Given the description of an element on the screen output the (x, y) to click on. 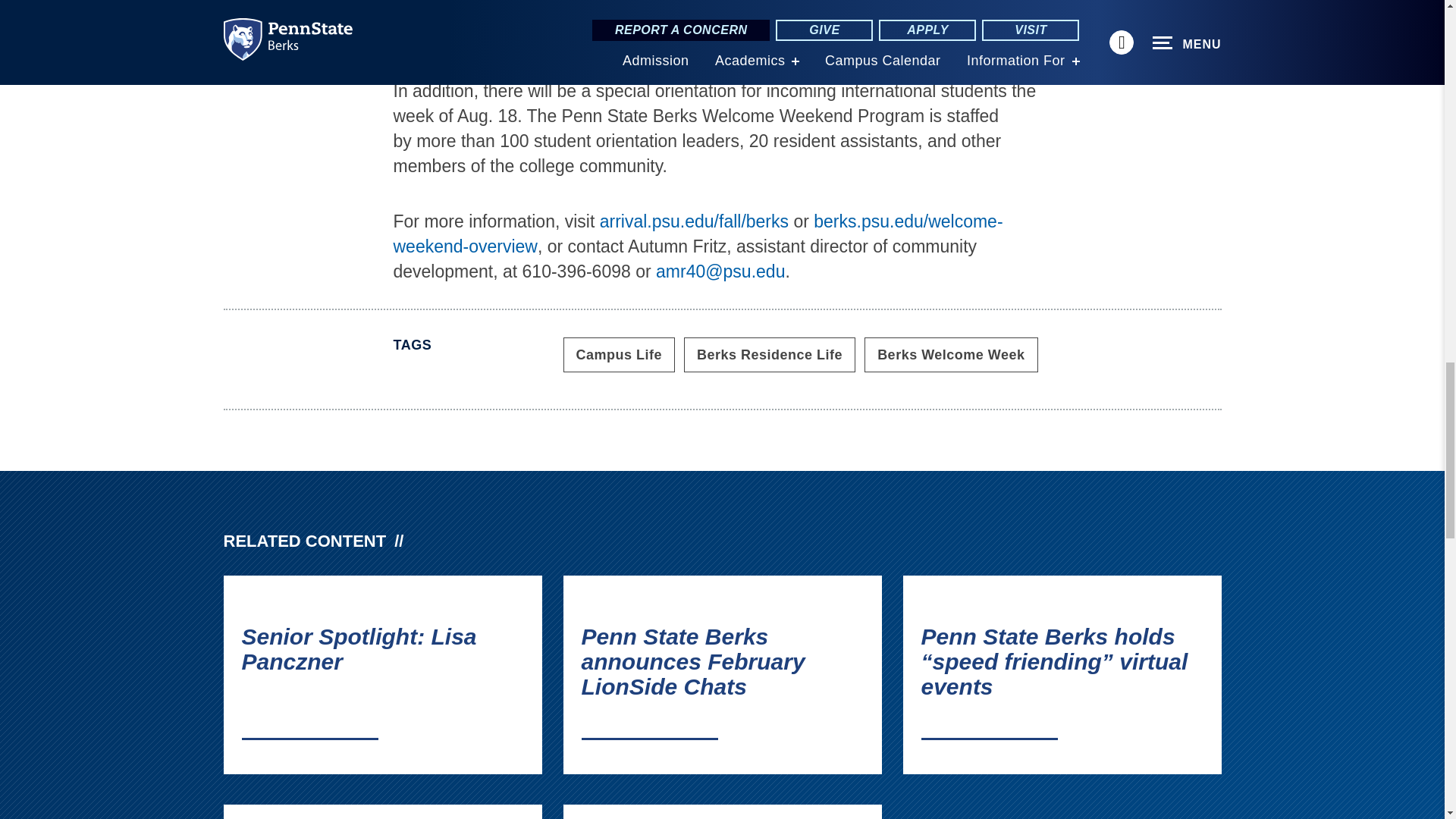
Content tagged with Berks Welcome Week (950, 354)
Content tagged with Campus Life (618, 354)
Content tagged with Berks Residence Life (770, 354)
